Given the description of an element on the screen output the (x, y) to click on. 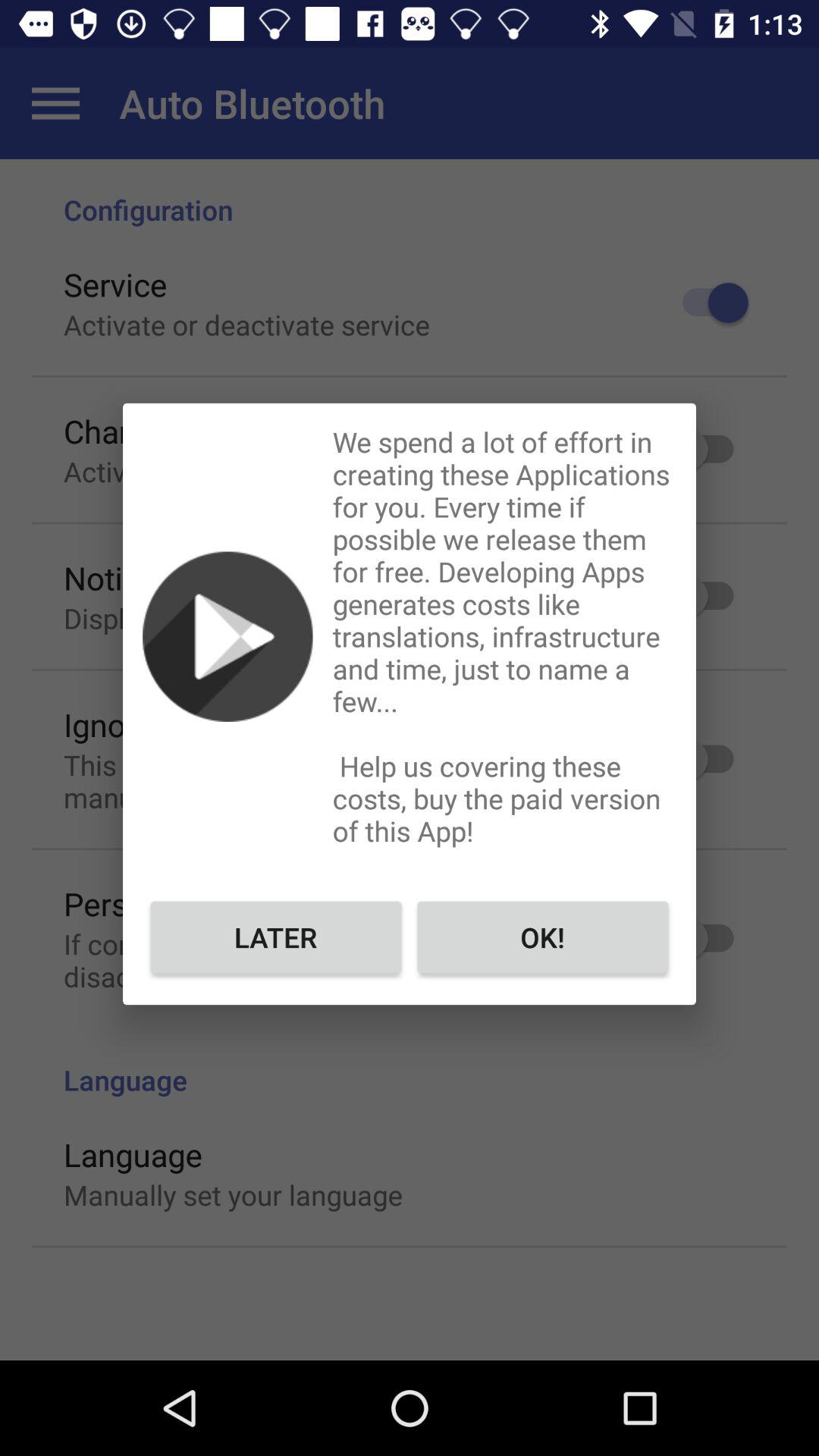
turn on the later icon (275, 937)
